Given the description of an element on the screen output the (x, y) to click on. 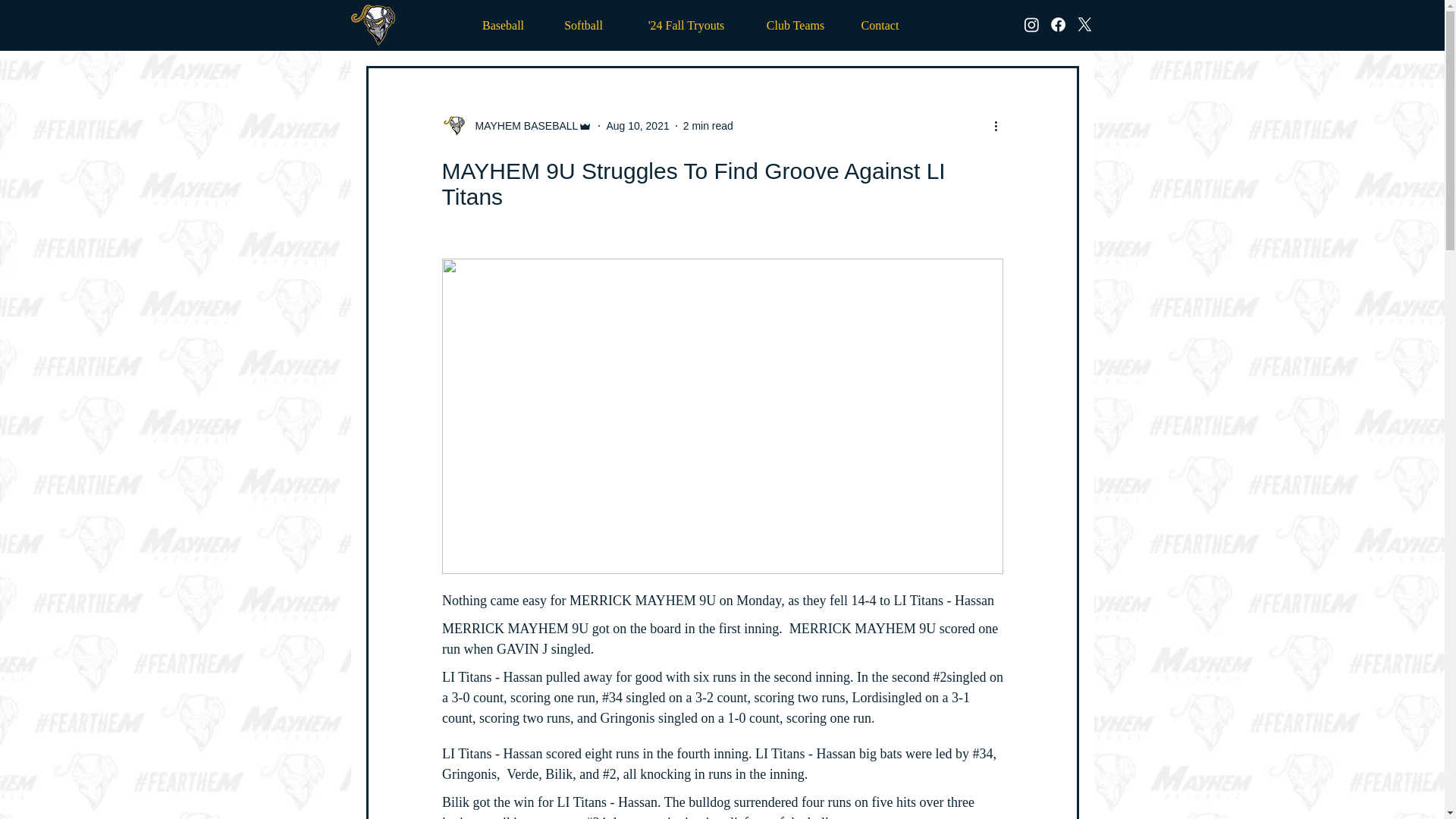
2 min read (707, 125)
Aug 10, 2021 (636, 125)
MAYHEM BASEBALL (521, 125)
MAYHEM BASEBALL (516, 125)
Contact (879, 24)
'24 Fall Tryouts (685, 24)
Baseball (503, 24)
Club Teams (796, 24)
